Given the description of an element on the screen output the (x, y) to click on. 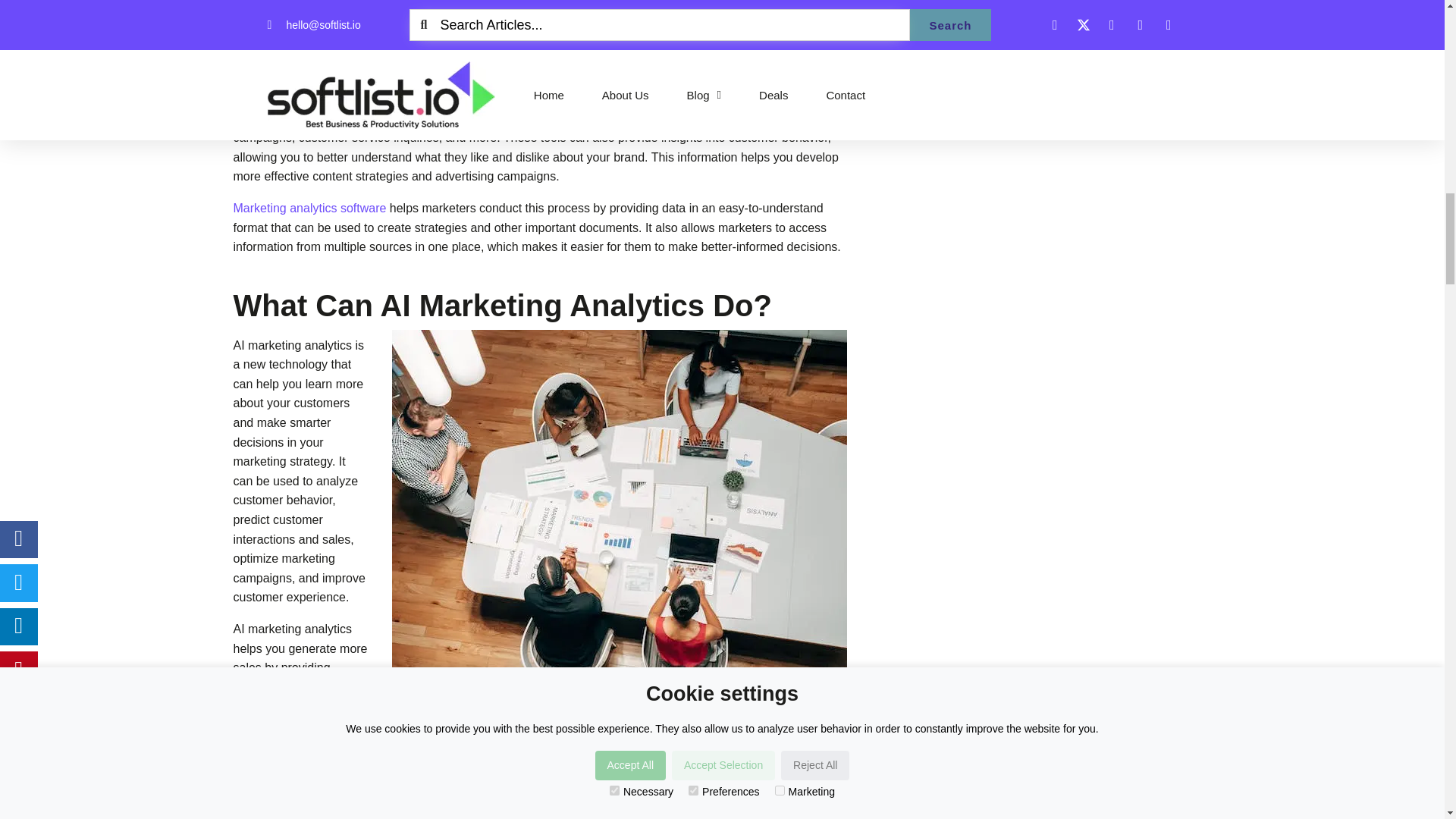
AI Marketing Analytics: Exploring the Latest Advancements 2 (619, 16)
